Given the description of an element on the screen output the (x, y) to click on. 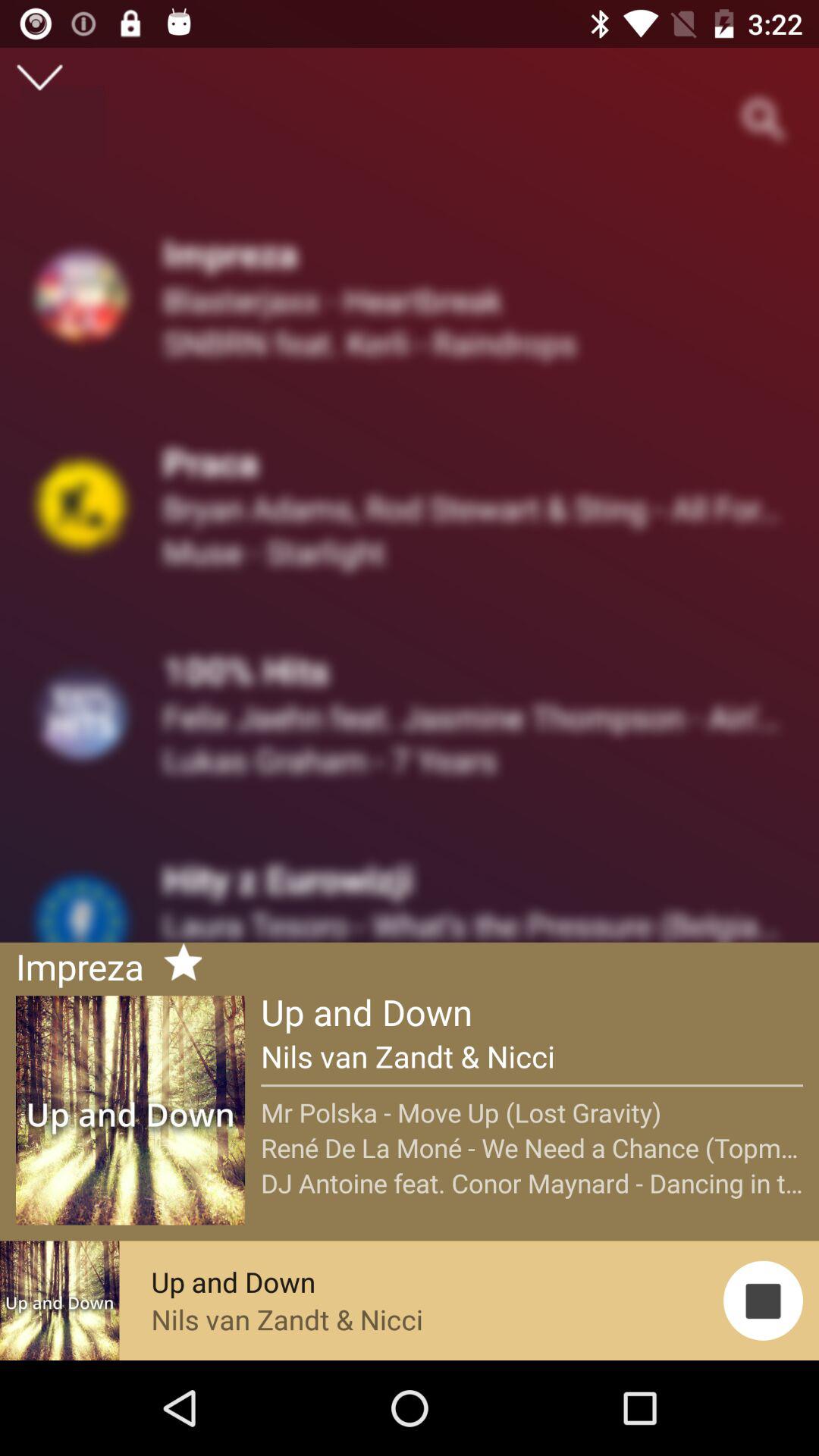
tap icon to the right of impreza icon (176, 964)
